Given the description of an element on the screen output the (x, y) to click on. 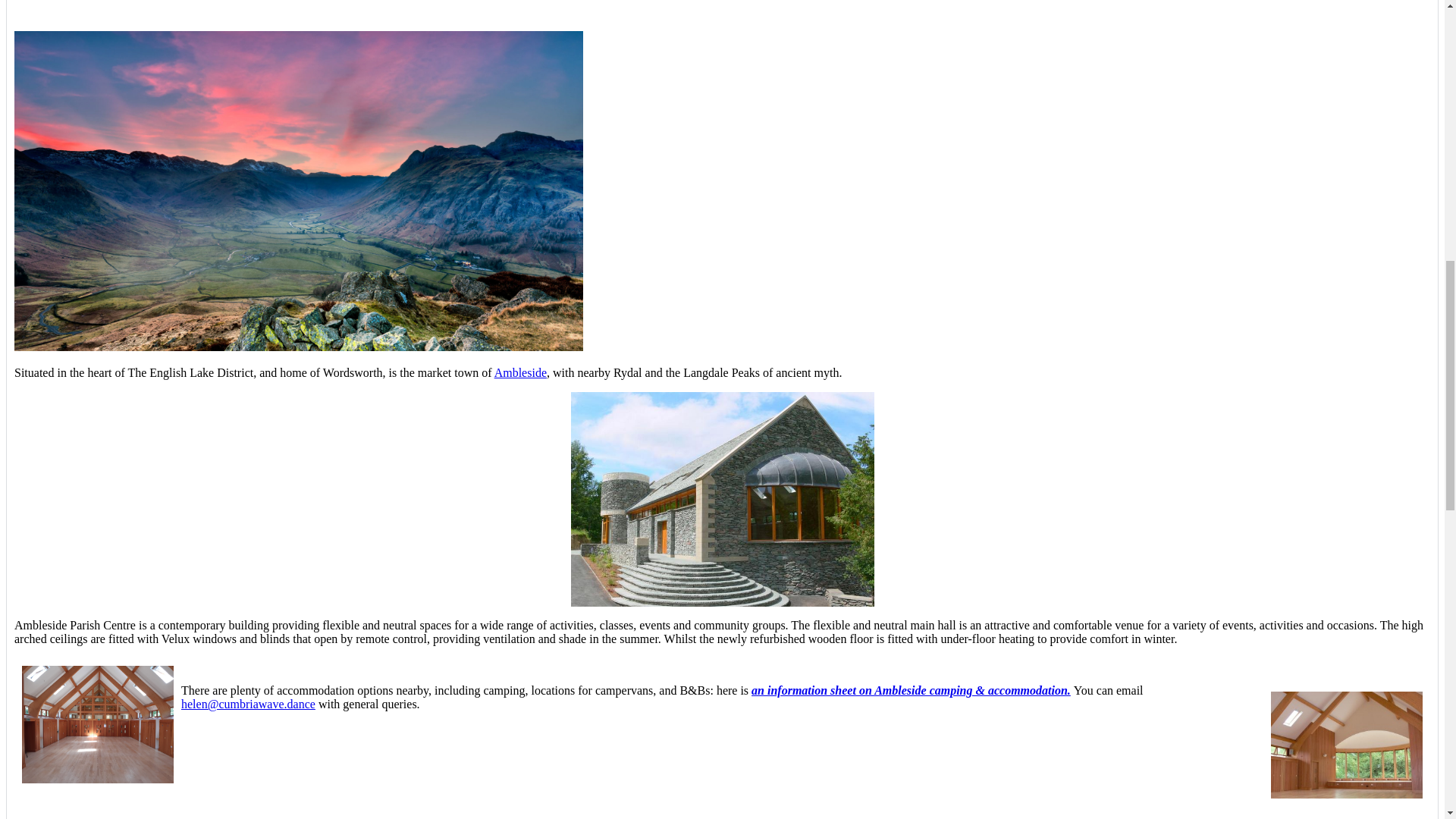
Ambleside (521, 372)
